Given the description of an element on the screen output the (x, y) to click on. 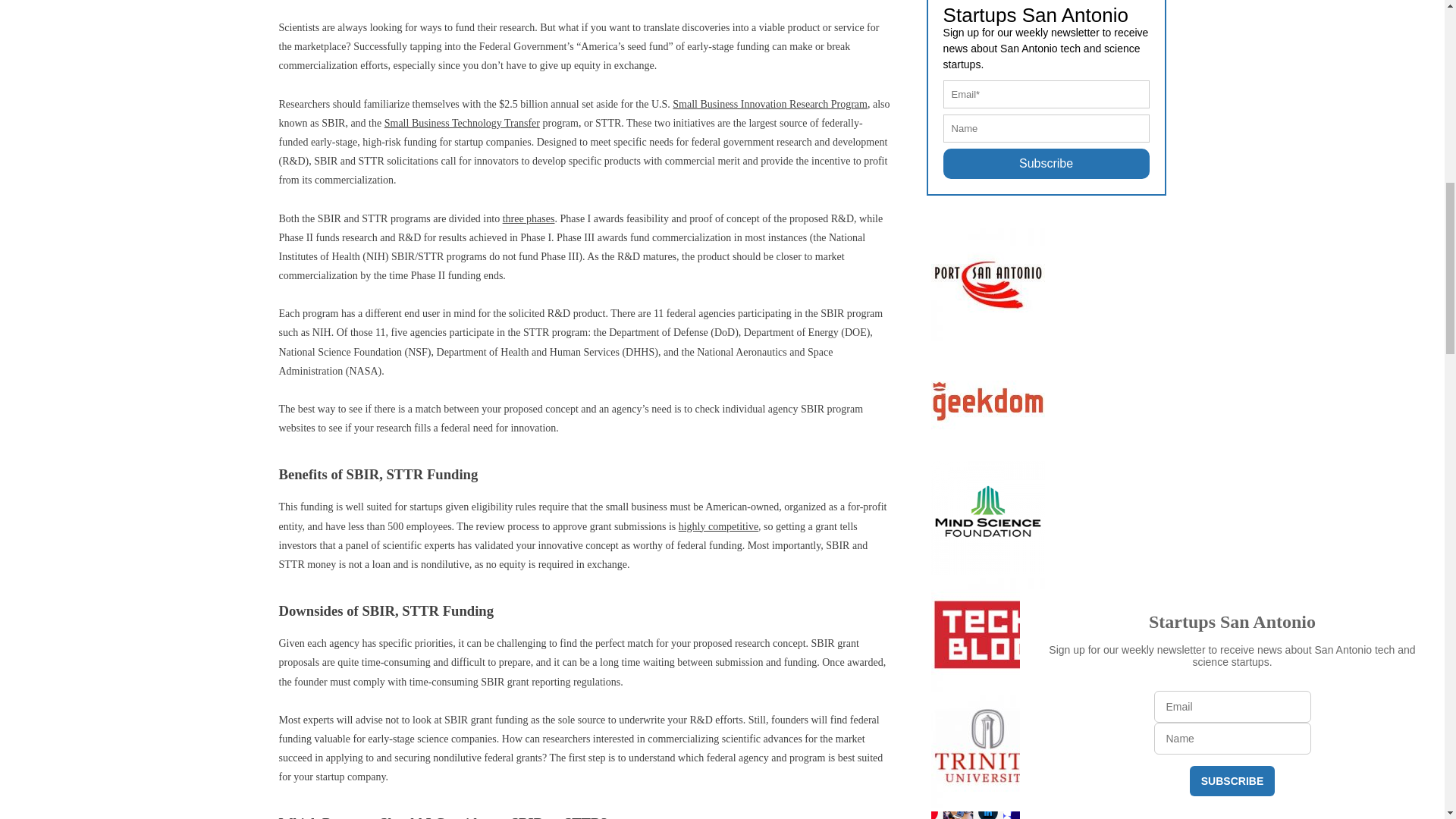
three phases (528, 217)
trinity-logo (988, 749)
techbloc (988, 633)
mindscience-black-text (988, 516)
Small Business Innovation Research Program (769, 103)
Small Business Technology Transfer (462, 122)
highly competitive (718, 526)
